Given the description of an element on the screen output the (x, y) to click on. 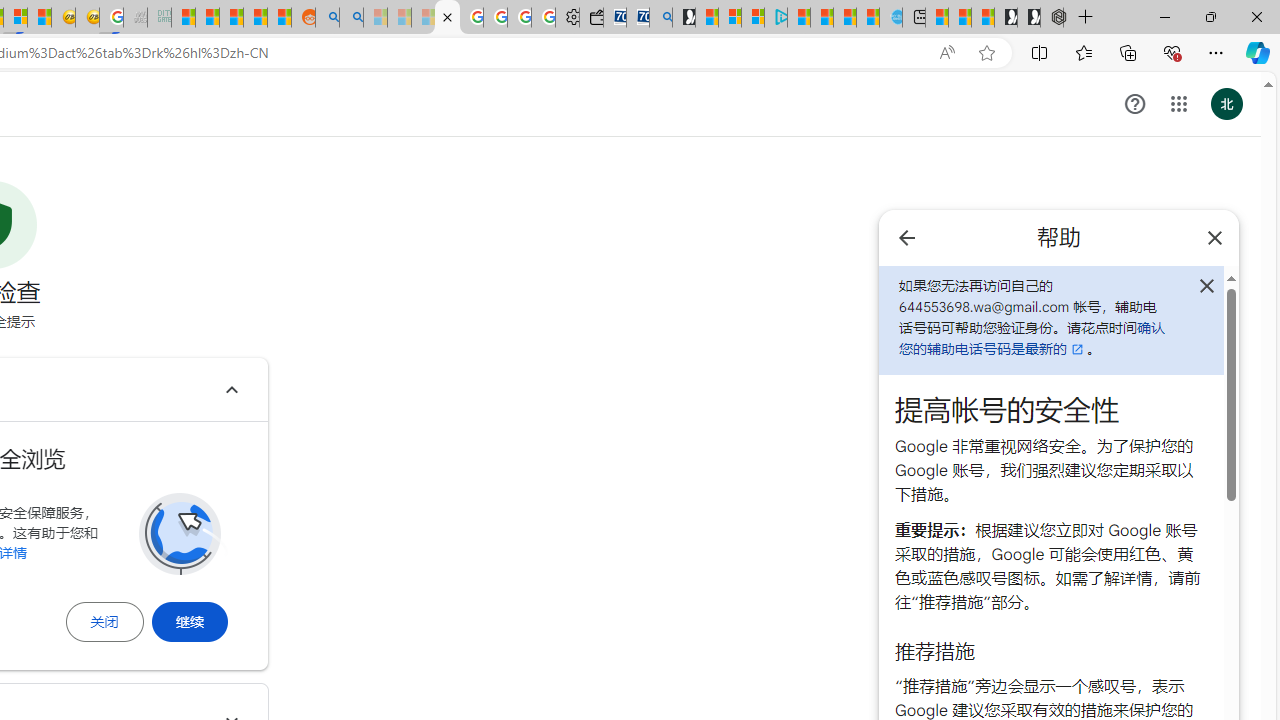
Bing Real Estate - Home sales and rental listings (660, 17)
Utah sues federal government - Search (351, 17)
